Given the description of an element on the screen output the (x, y) to click on. 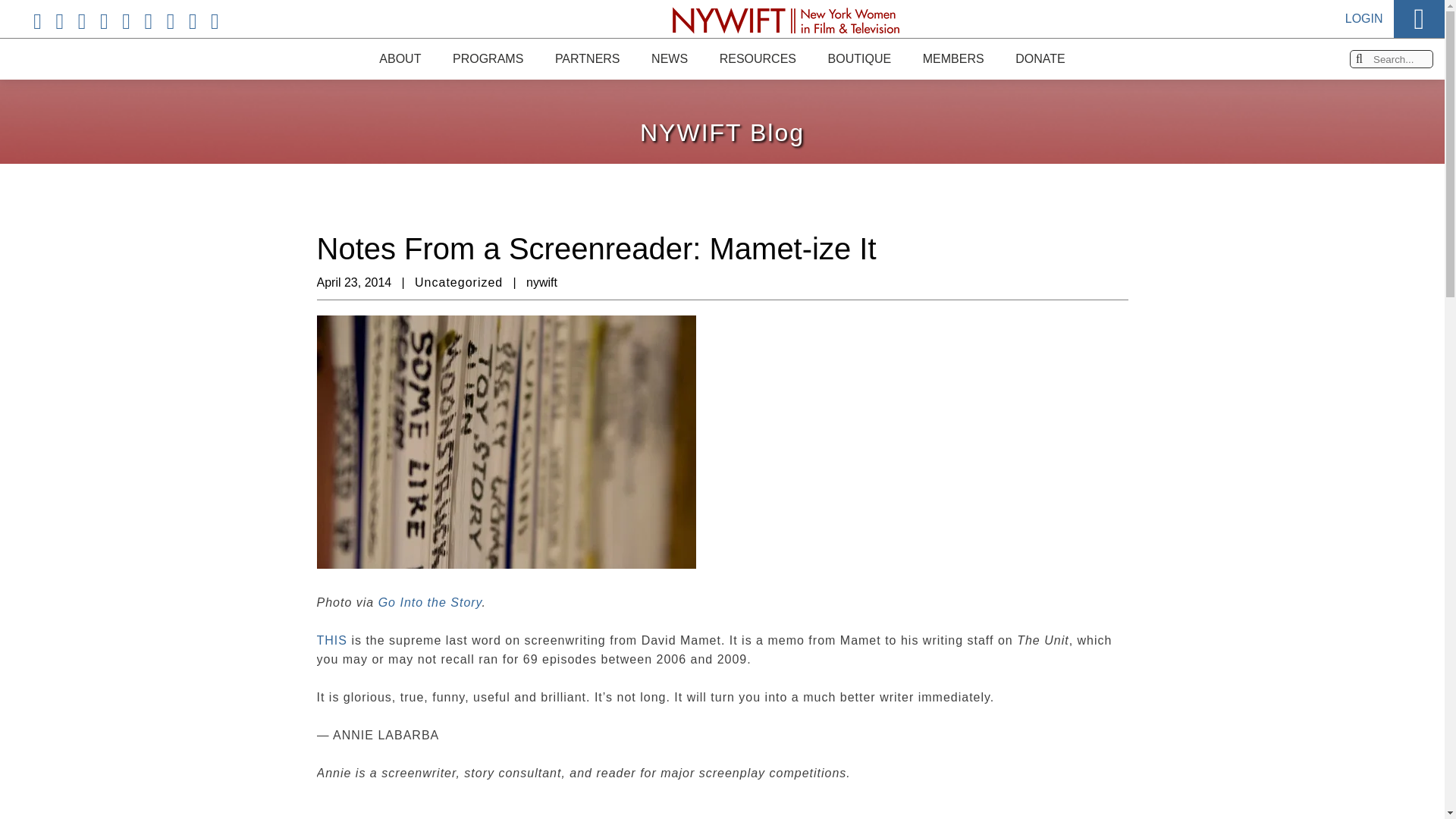
RESOURCES (757, 58)
PROGRAMS (488, 58)
LOGIN (1364, 11)
NEWS (669, 58)
PARTNERS (587, 58)
ABOUT (399, 55)
